Given the description of an element on the screen output the (x, y) to click on. 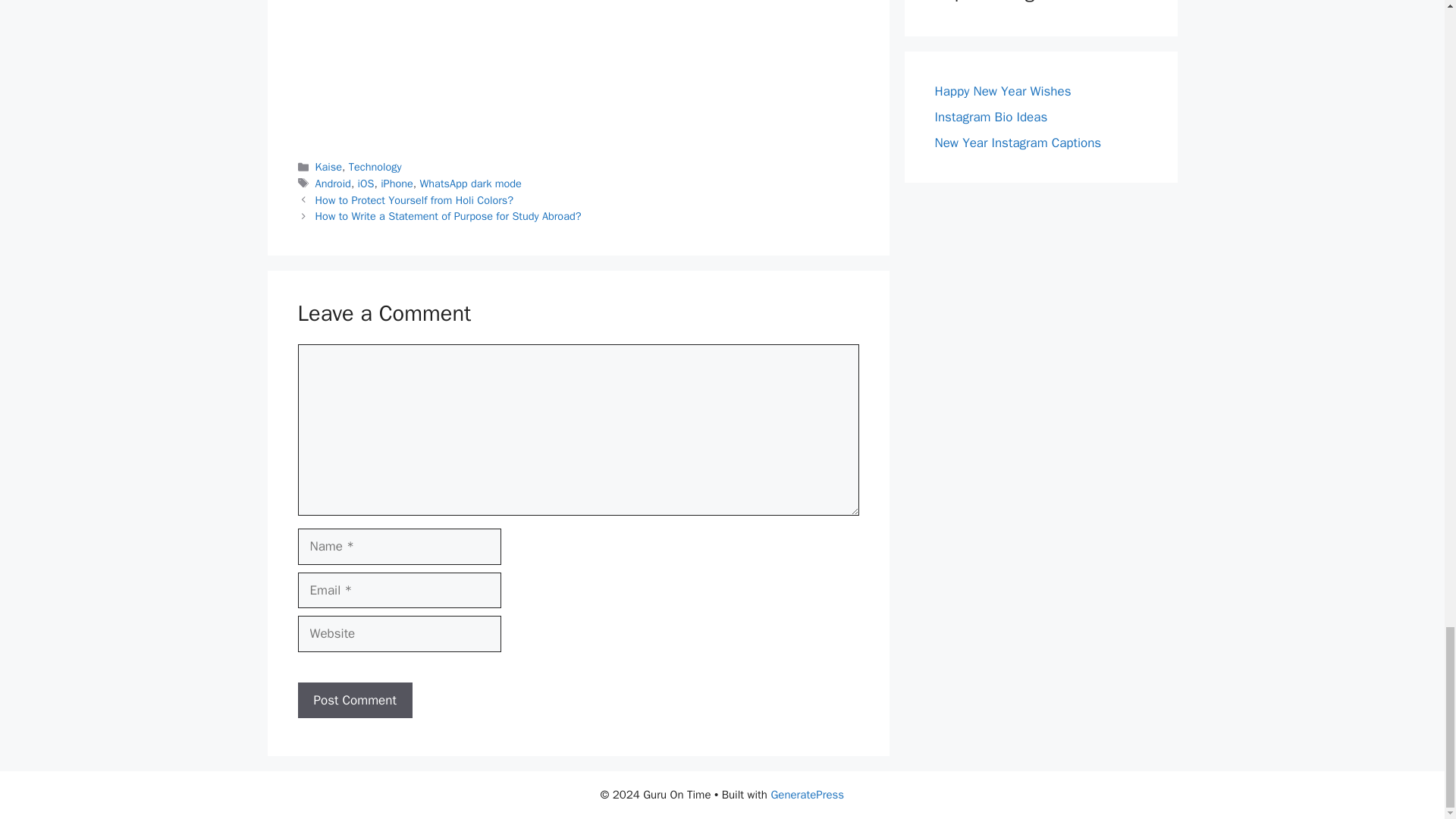
Android (332, 183)
iOS (366, 183)
Kaise (328, 166)
Post Comment (354, 700)
iPhone (396, 183)
Technology (375, 166)
